Given the description of an element on the screen output the (x, y) to click on. 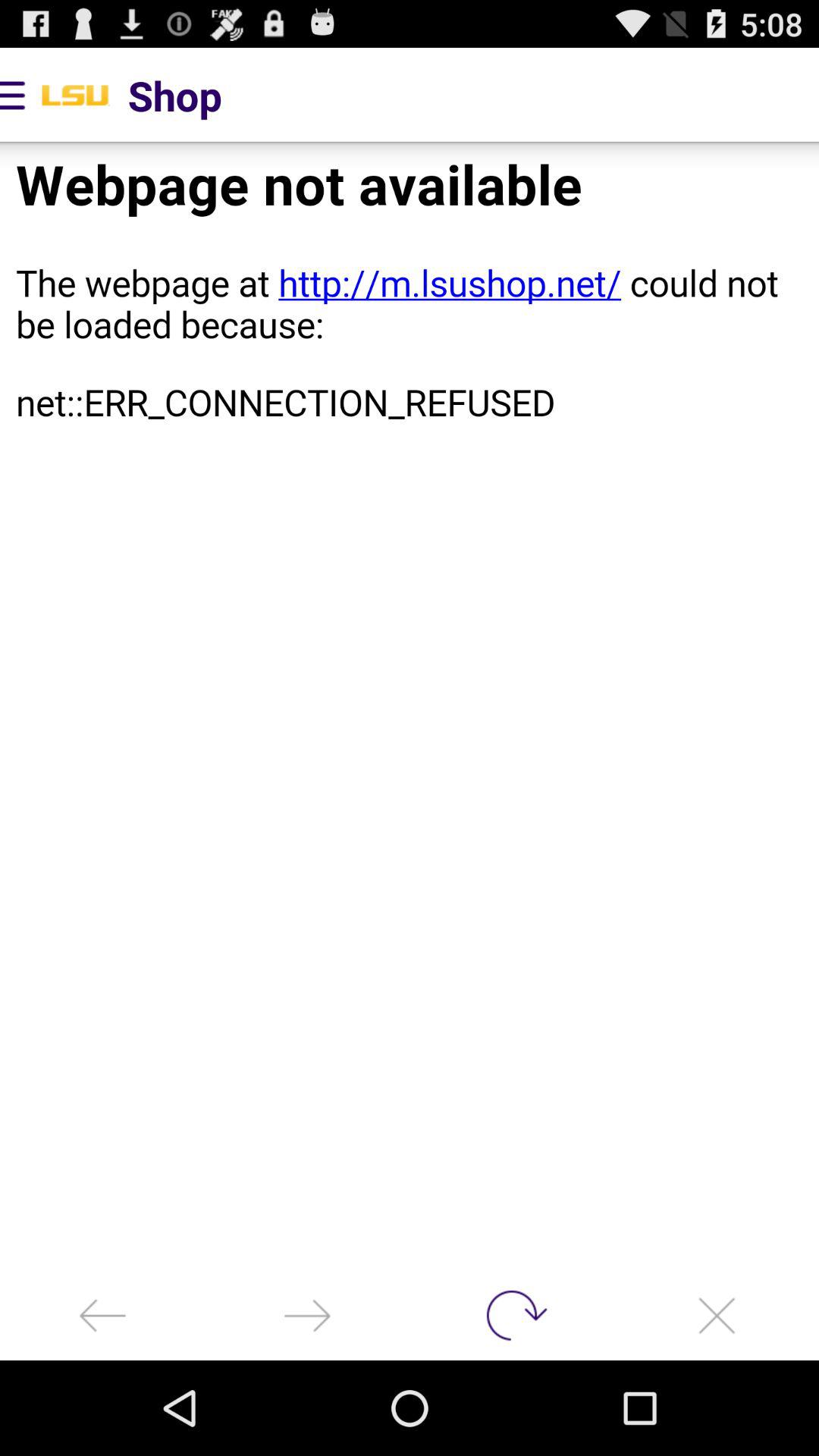
reload page (511, 1315)
